Given the description of an element on the screen output the (x, y) to click on. 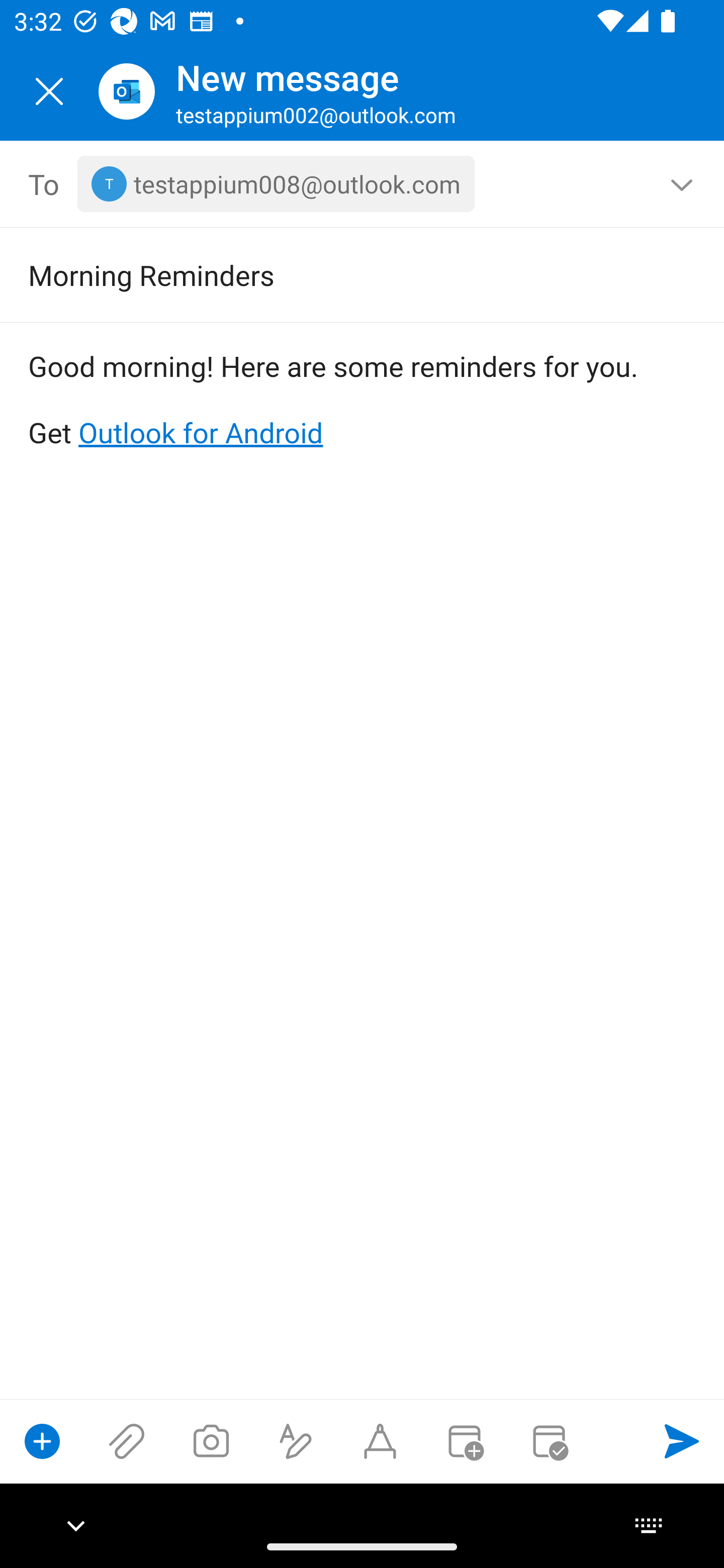
Close (49, 91)
To, 1 recipient <testappium008@outlook.com> (362, 184)
Morning Reminders (333, 274)
Show compose options (42, 1440)
Attach files (126, 1440)
Take a photo (210, 1440)
Show formatting options (295, 1440)
Start Ink compose (380, 1440)
Convert to event (464, 1440)
Send availability (548, 1440)
Send (681, 1440)
